Given the description of an element on the screen output the (x, y) to click on. 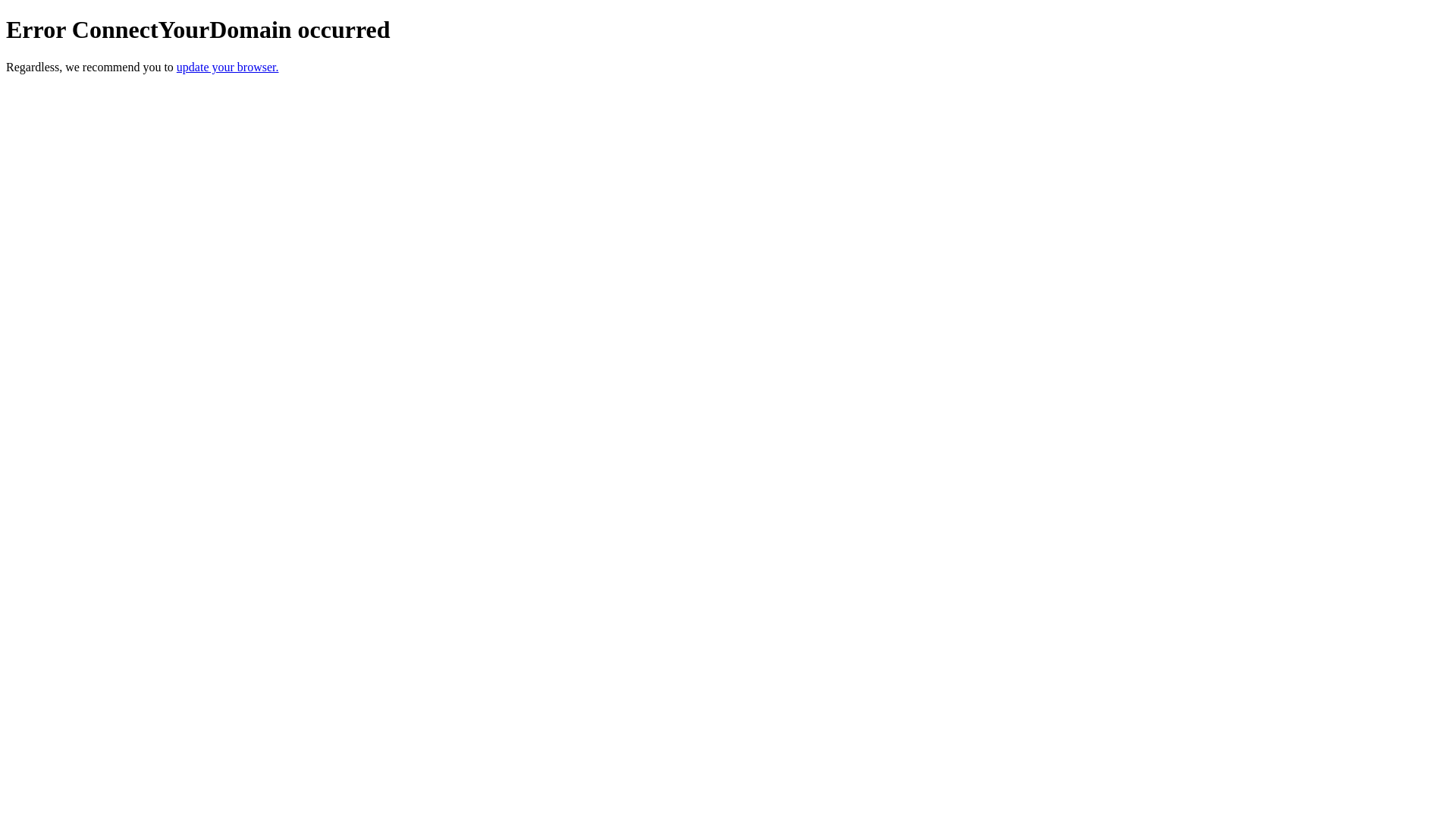
update your browser. Element type: text (227, 66)
